Given the description of an element on the screen output the (x, y) to click on. 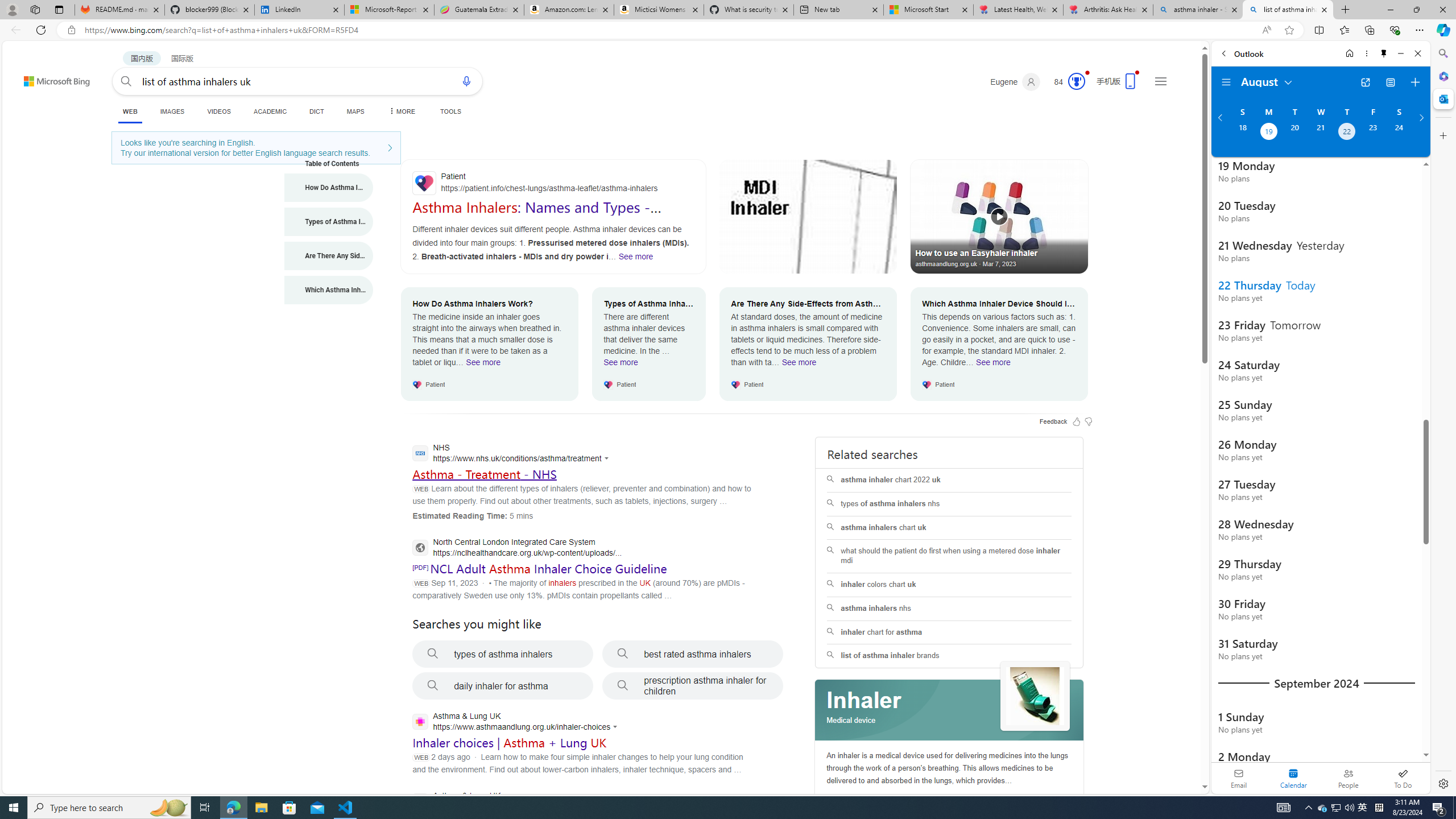
list of asthma inhalers uk - Search (1287, 9)
prescription asthma inhaler for children (692, 685)
Animation (1086, 72)
asthma inhaler chart 2022 uk (949, 480)
Search using voice (465, 80)
asthma inhaler chart 2022 uk (949, 480)
Search more (1179, 753)
IMAGES (172, 111)
Search button (126, 80)
Tuesday, August 20, 2024.  (1294, 132)
